Given the description of an element on the screen output the (x, y) to click on. 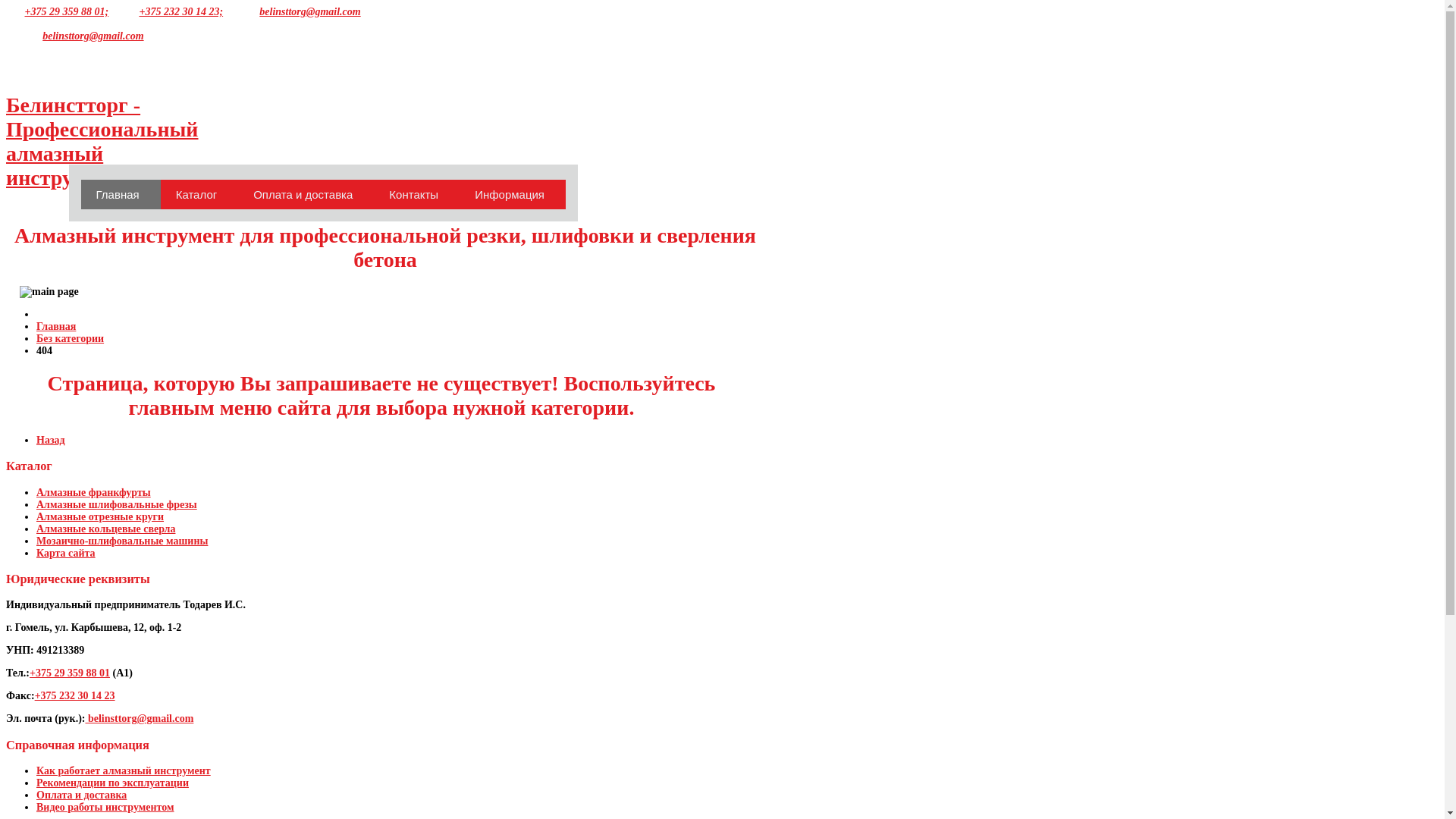
belinsttorg@gmail.com Element type: text (92, 35)
+375 29 359 88 01 Element type: text (69, 672)
+375 29 359 88 01; Element type: text (66, 11)
belinsttorg@gmail.com Element type: text (138, 718)
+375 232 30 14 23; Element type: text (180, 11)
belinsttorg@gmail.com Element type: text (309, 11)
+375 232 30 14 23 Element type: text (74, 695)
